Given the description of an element on the screen output the (x, y) to click on. 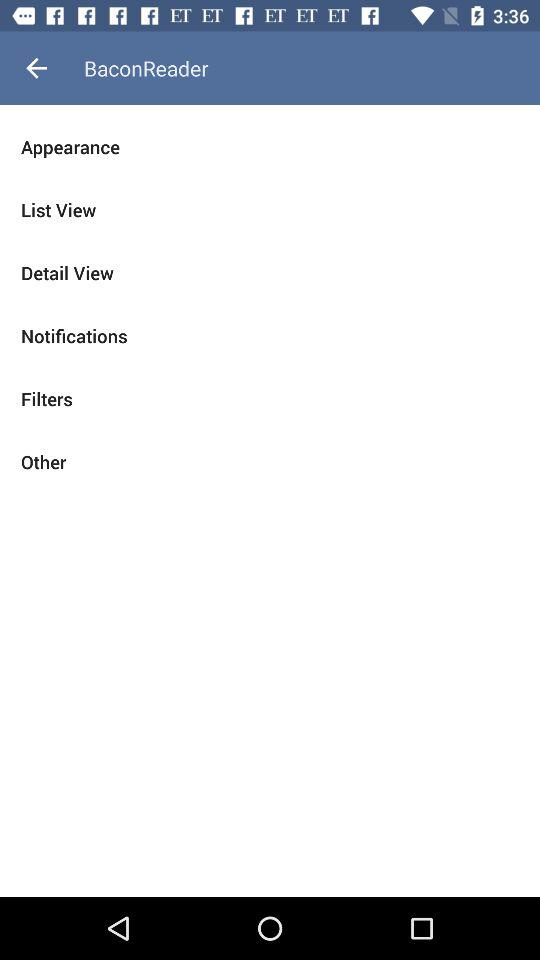
select the icon below the detail view item (270, 335)
